Given the description of an element on the screen output the (x, y) to click on. 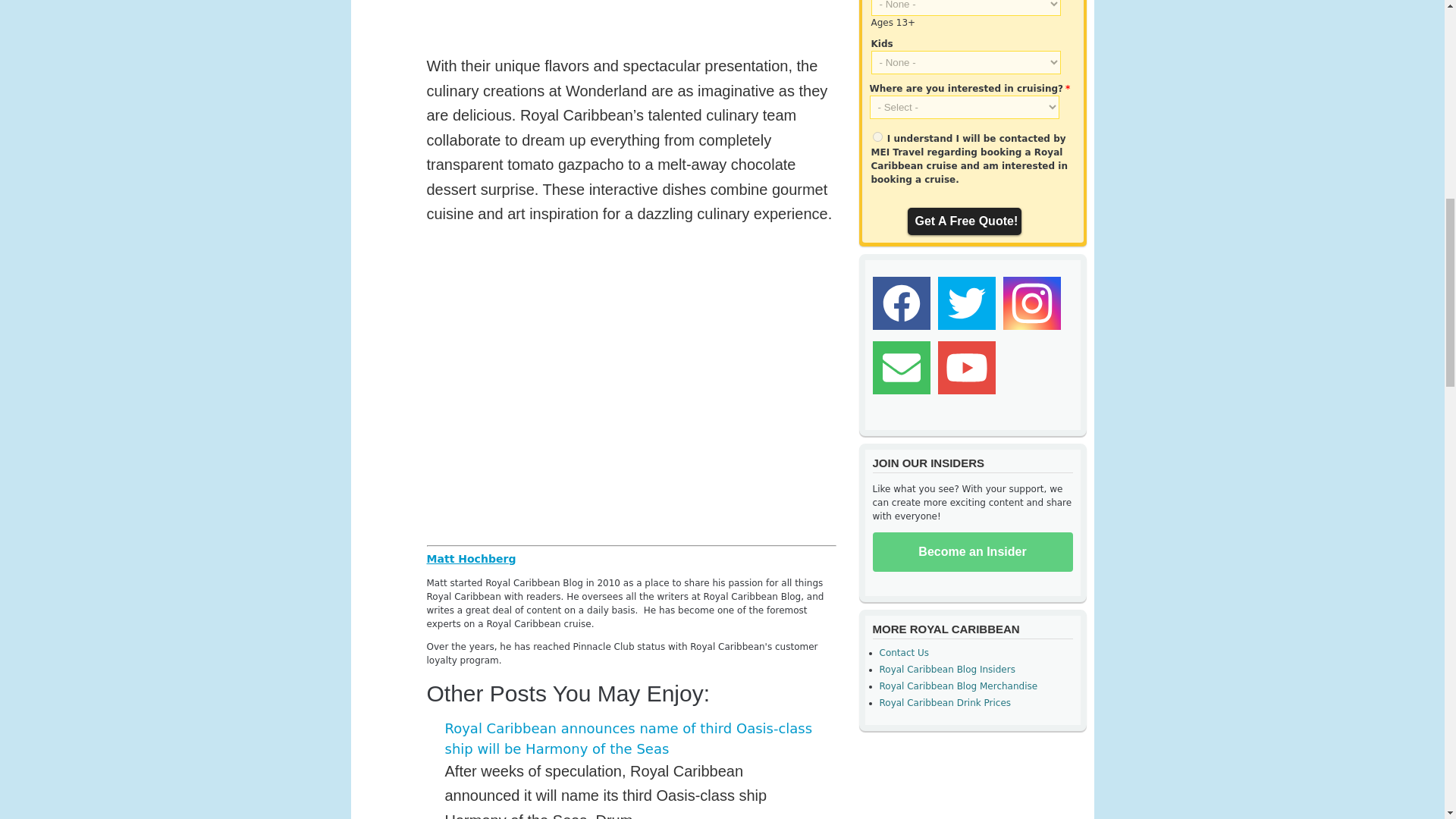
Get A Free Quote! (963, 221)
Agree (877, 136)
Matt Hochberg (470, 558)
Get A Free Quote! (963, 221)
